Given the description of an element on the screen output the (x, y) to click on. 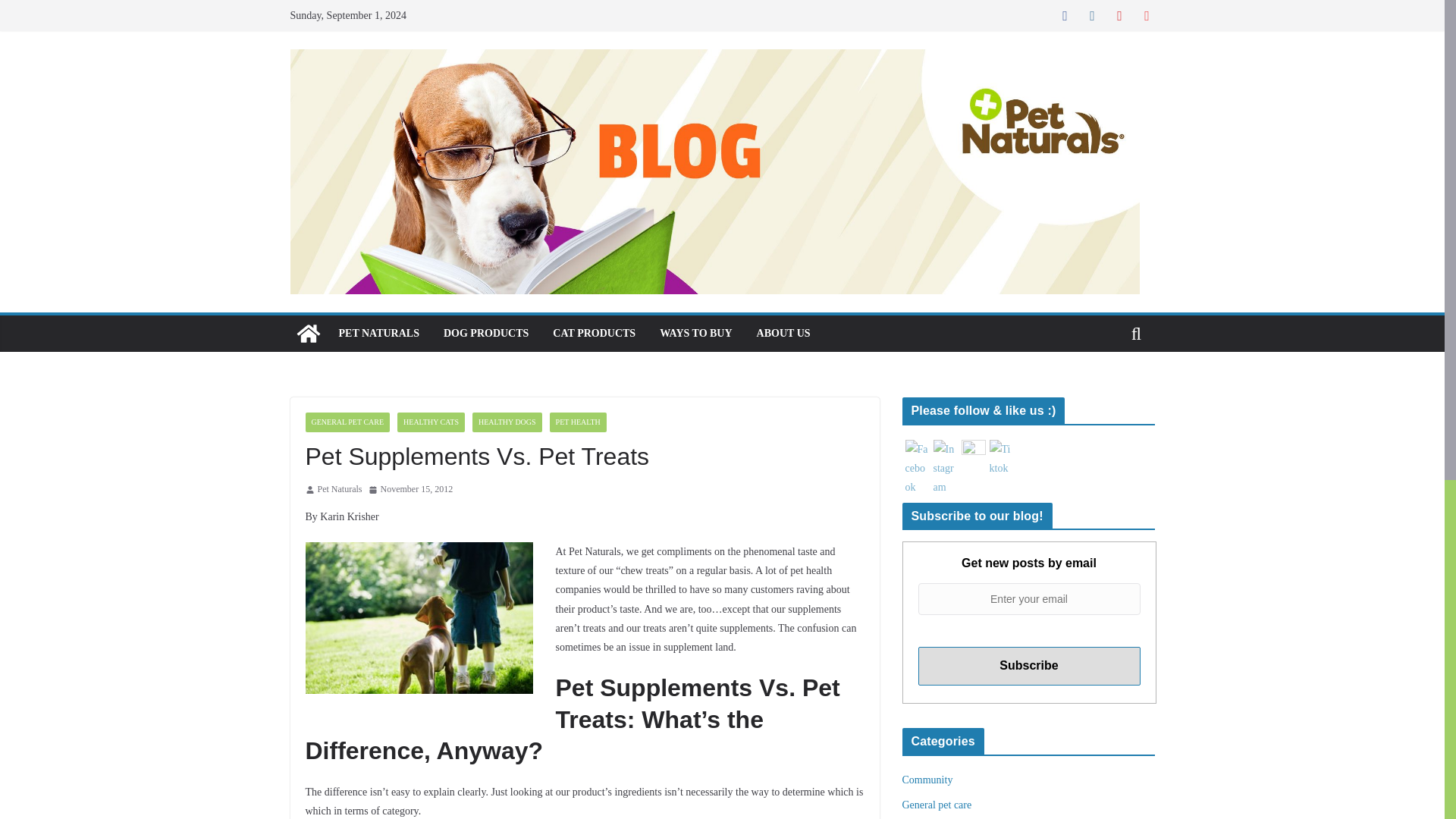
Pet Naturals (339, 489)
HEALTHY DOGS (506, 422)
ABOUT US (783, 332)
78366860 (418, 617)
PET HEALTH (578, 422)
Subscribe (1028, 666)
Pet Naturals Blog (307, 333)
PET NATURALS (378, 332)
GENERAL PET CARE (347, 422)
Pet Naturals (339, 489)
